Given the description of an element on the screen output the (x, y) to click on. 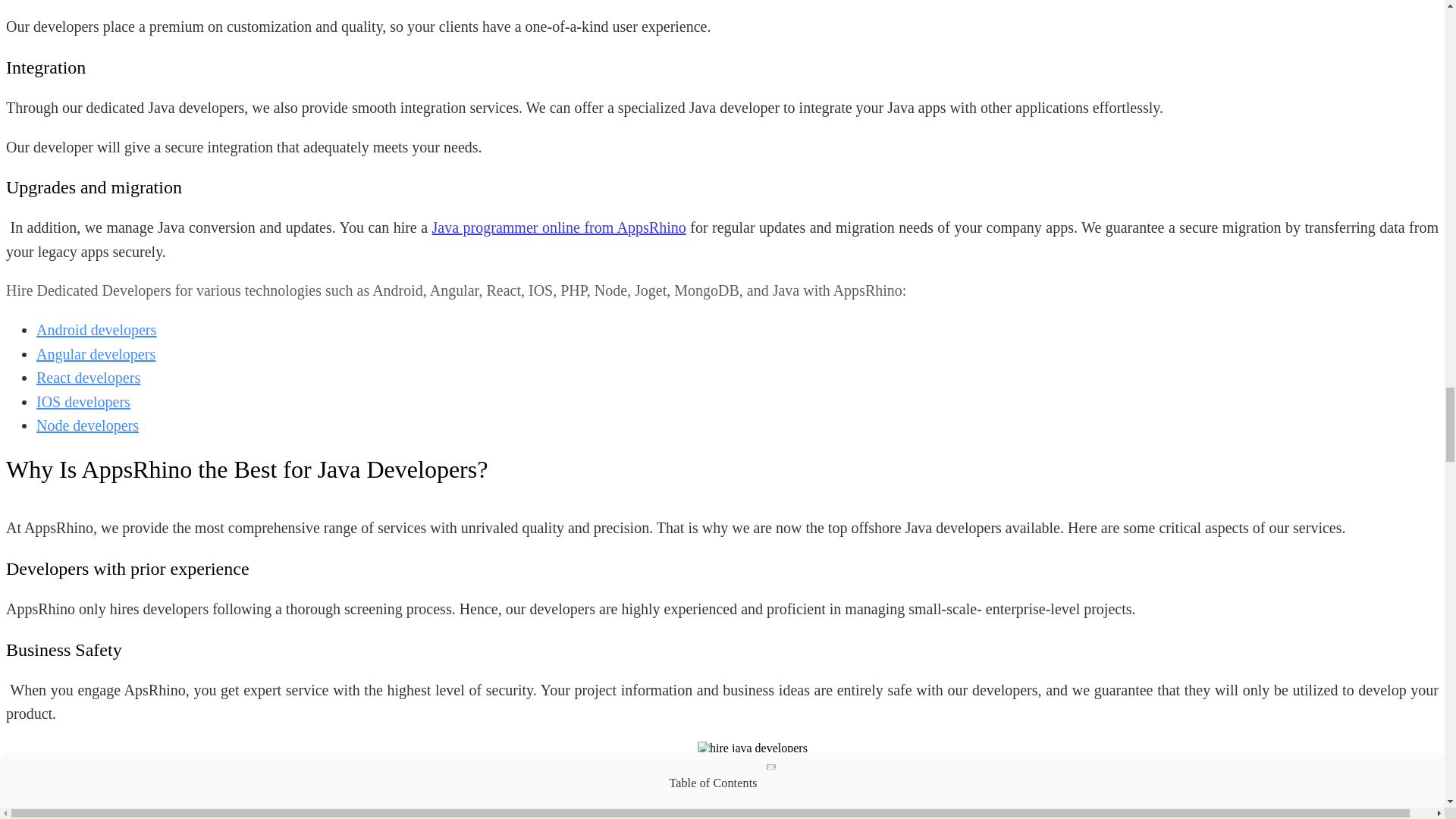
Android developers (95, 329)
React developers (87, 377)
IOS developers (83, 401)
Angular developers (95, 353)
Node developers (87, 425)
Java programmer online from AppsRhino (558, 227)
